Given the description of an element on the screen output the (x, y) to click on. 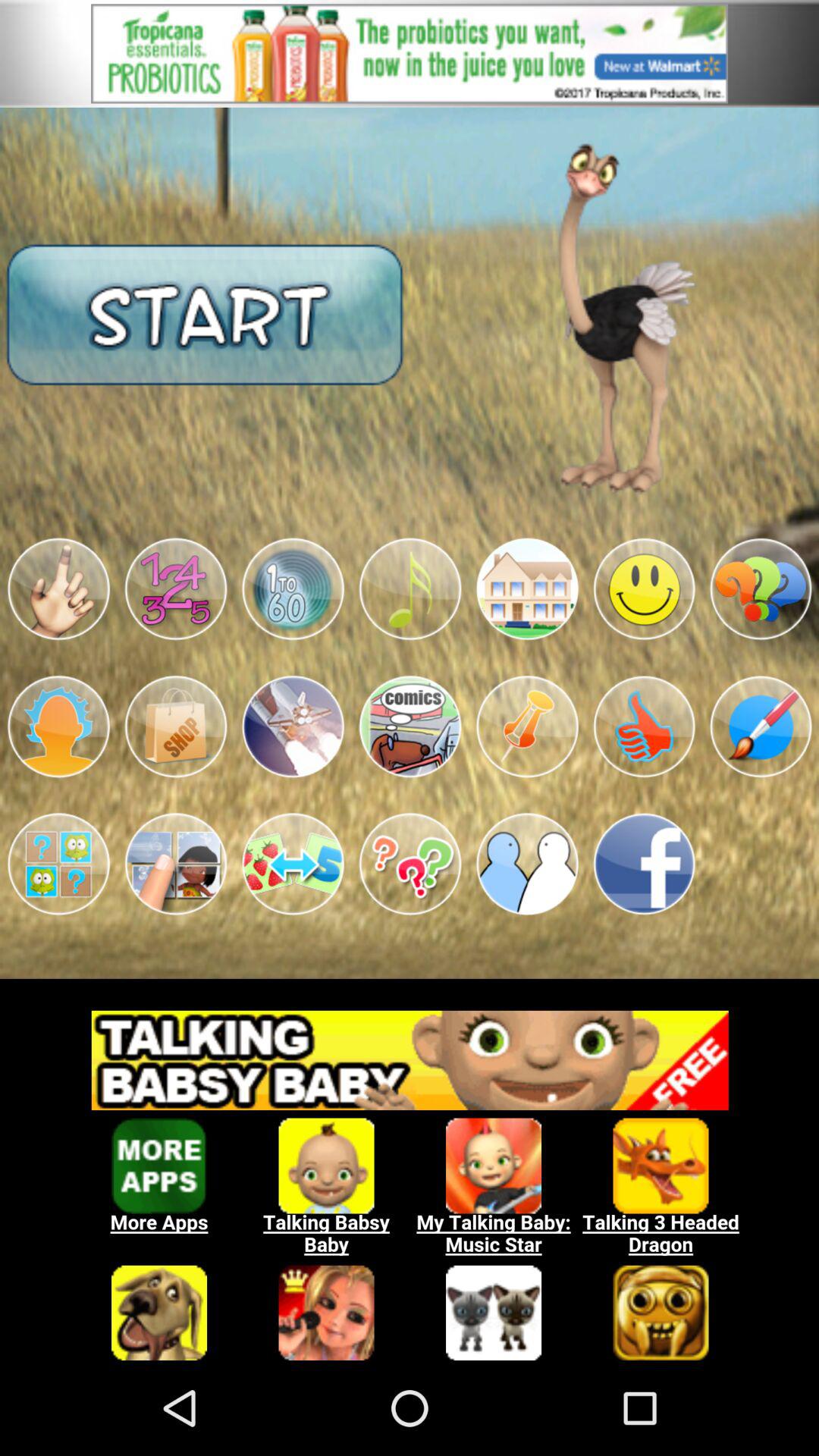
paint (760, 726)
